Given the description of an element on the screen output the (x, y) to click on. 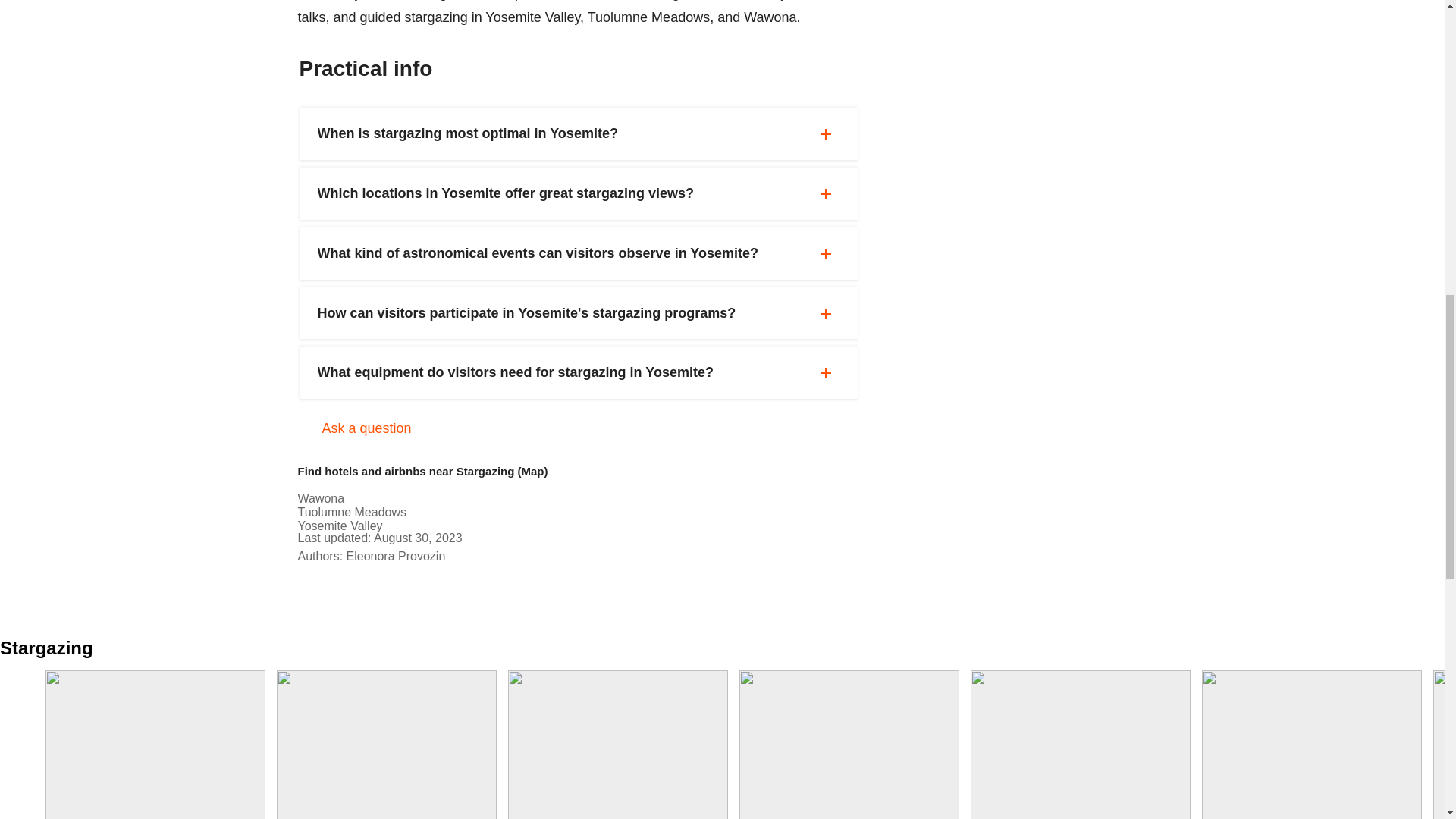
Ask a question (386, 744)
Yosemite Valley (365, 428)
Eleonora Provozin (154, 744)
Wawona (339, 525)
Tuolumne Meadows (395, 555)
